Given the description of an element on the screen output the (x, y) to click on. 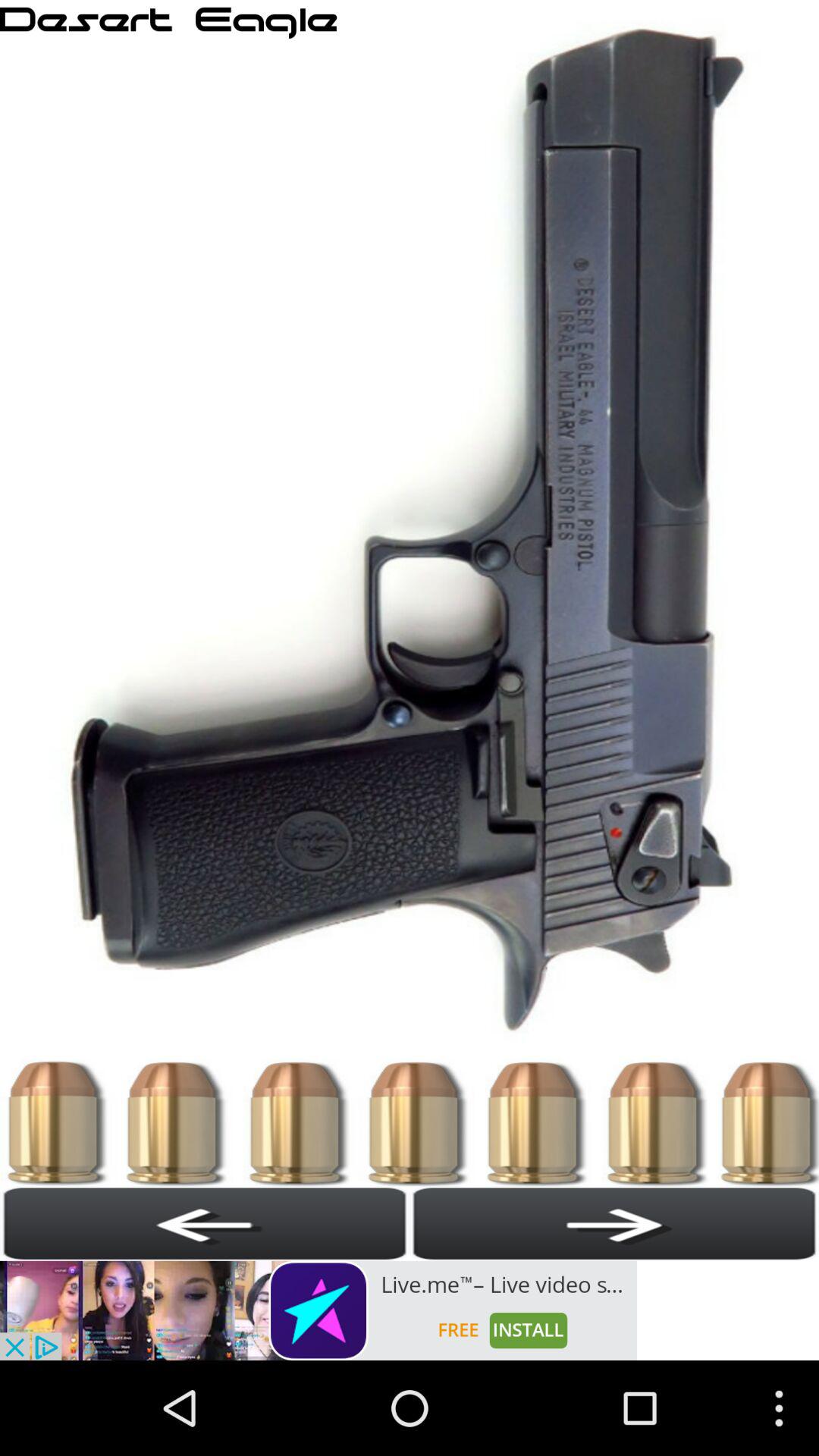
switch left arrow option (204, 1223)
